Given the description of an element on the screen output the (x, y) to click on. 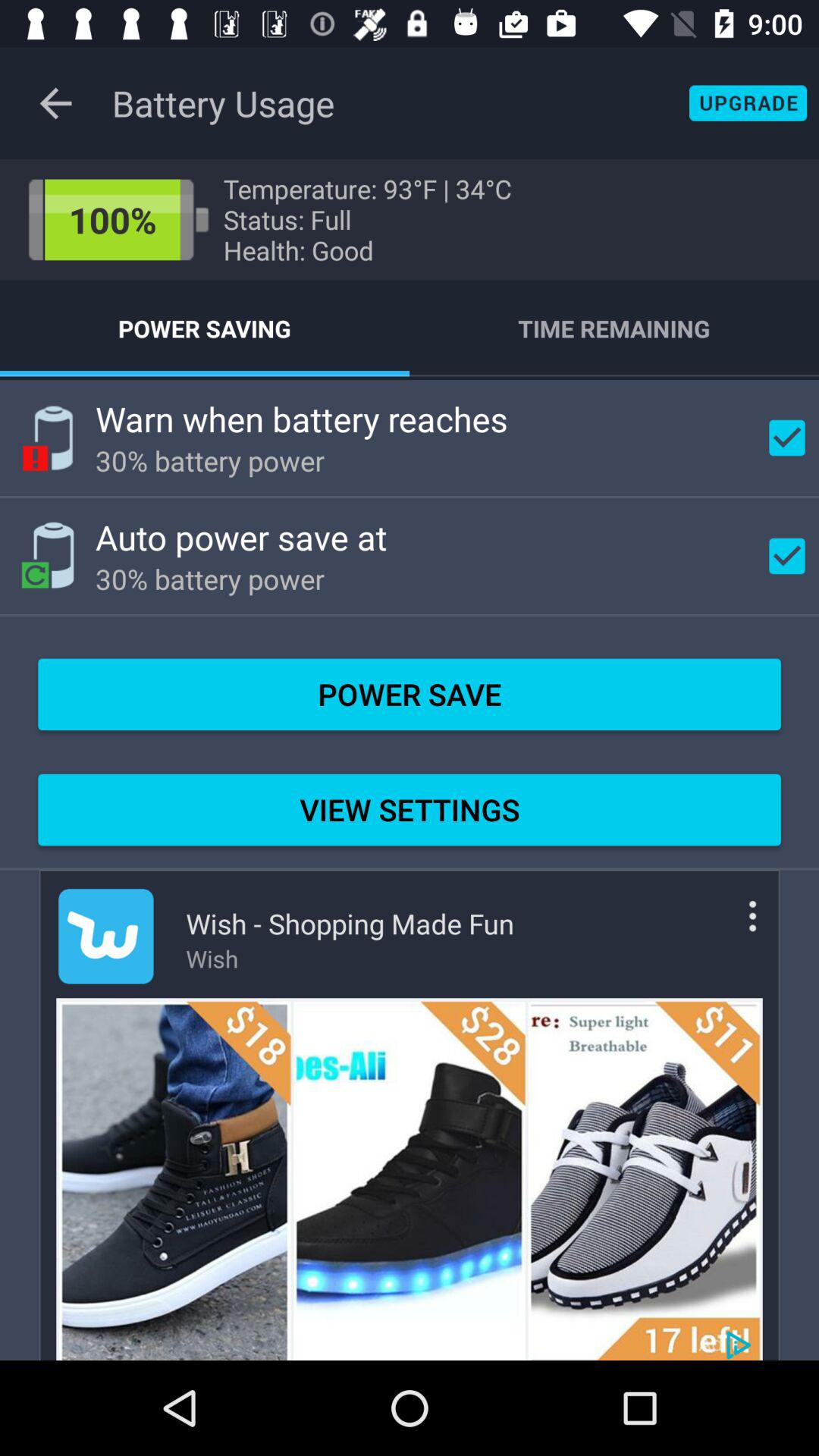
advert logo icon (105, 936)
